Given the description of an element on the screen output the (x, y) to click on. 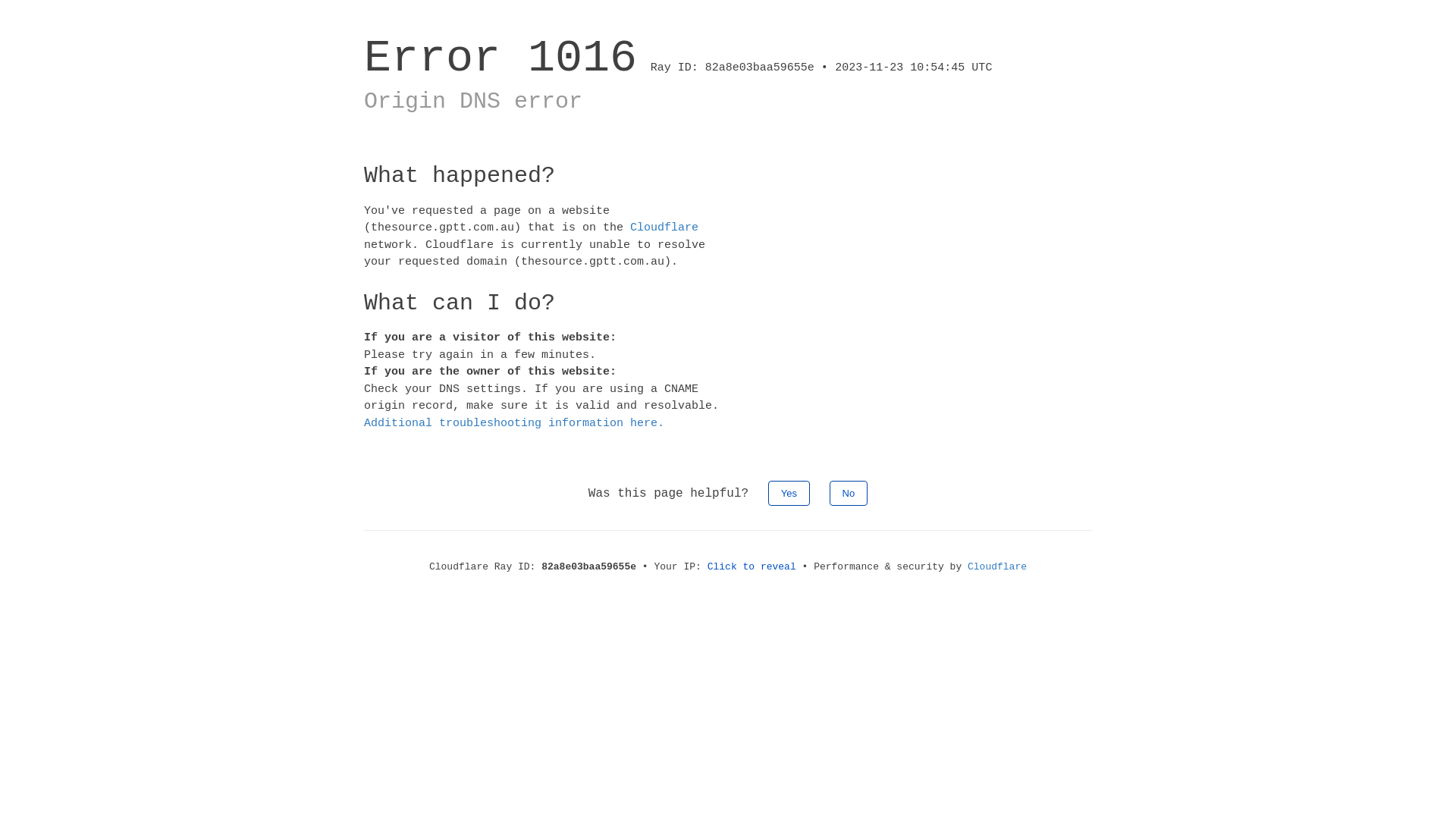
Click to reveal Element type: text (751, 566)
Additional troubleshooting information here. Element type: text (514, 423)
Cloudflare Element type: text (996, 566)
Cloudflare Element type: text (664, 227)
No Element type: text (848, 492)
Yes Element type: text (788, 492)
